Given the description of an element on the screen output the (x, y) to click on. 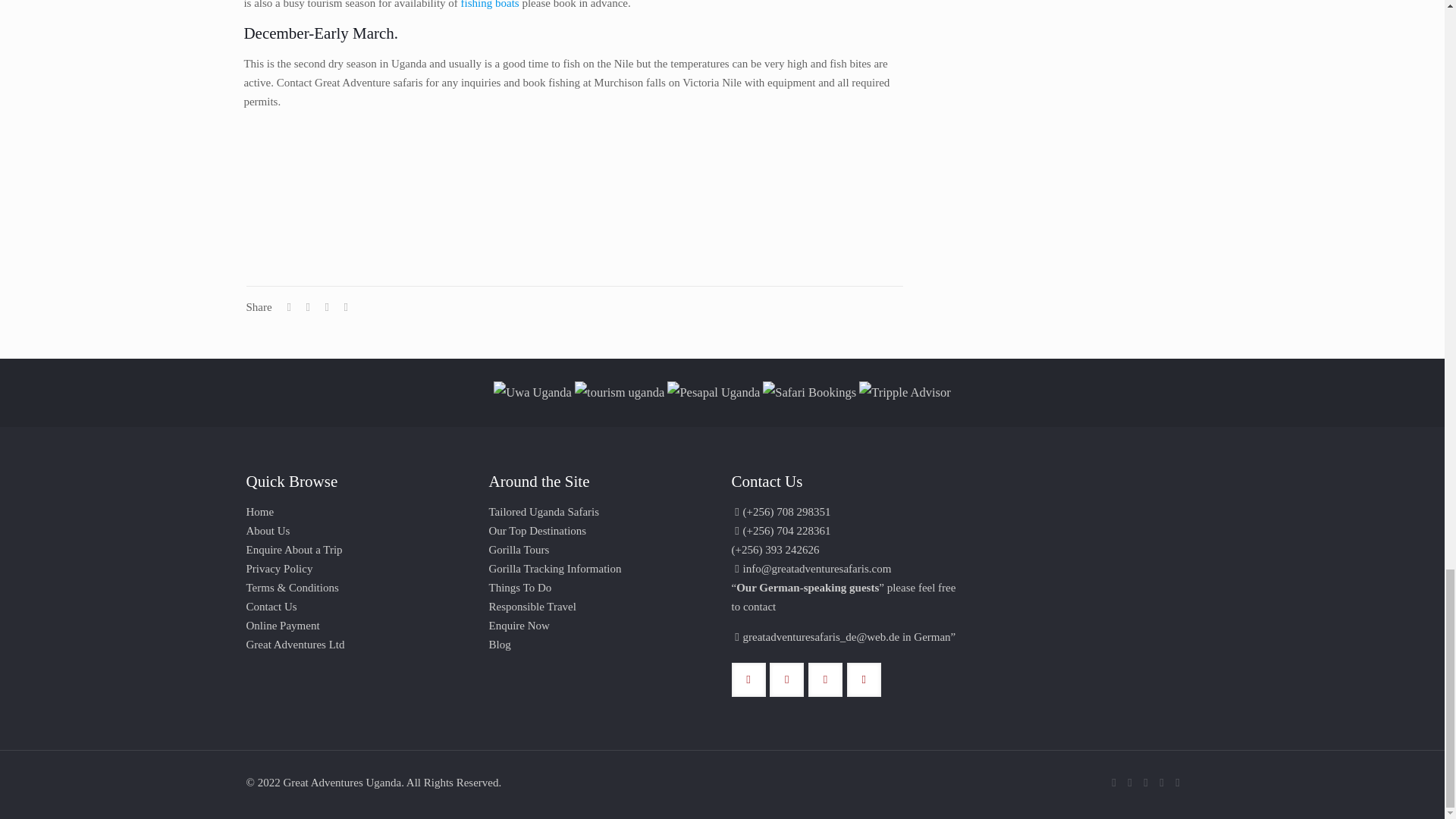
Instagram (1161, 782)
Facebook (1129, 782)
WhatsApp (1113, 782)
